Given the description of an element on the screen output the (x, y) to click on. 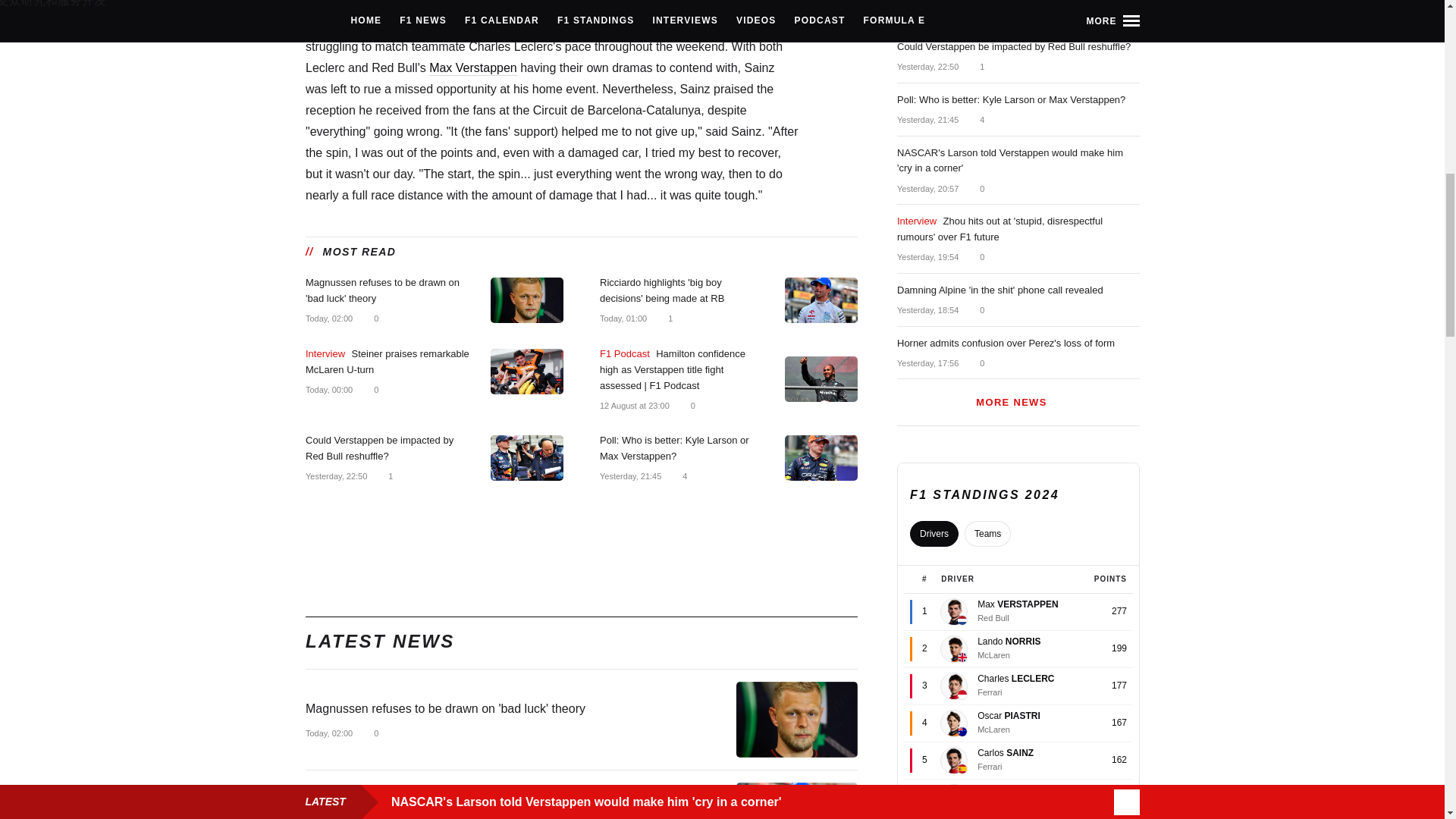
Saturday 17 August 2024 at 01:00 (622, 317)
Saturday 17 August 2024 at 00:00 (328, 388)
Saturday 17 August 2024 at 02:00 (328, 317)
Monday 12 August 2024 at 23:00 (633, 405)
Friday 16 August 2024 at 22:50 (335, 475)
Friday 16 August 2024 at 21:45 (629, 475)
Saturday 17 August 2024 at 02:00 (328, 732)
